Given the description of an element on the screen output the (x, y) to click on. 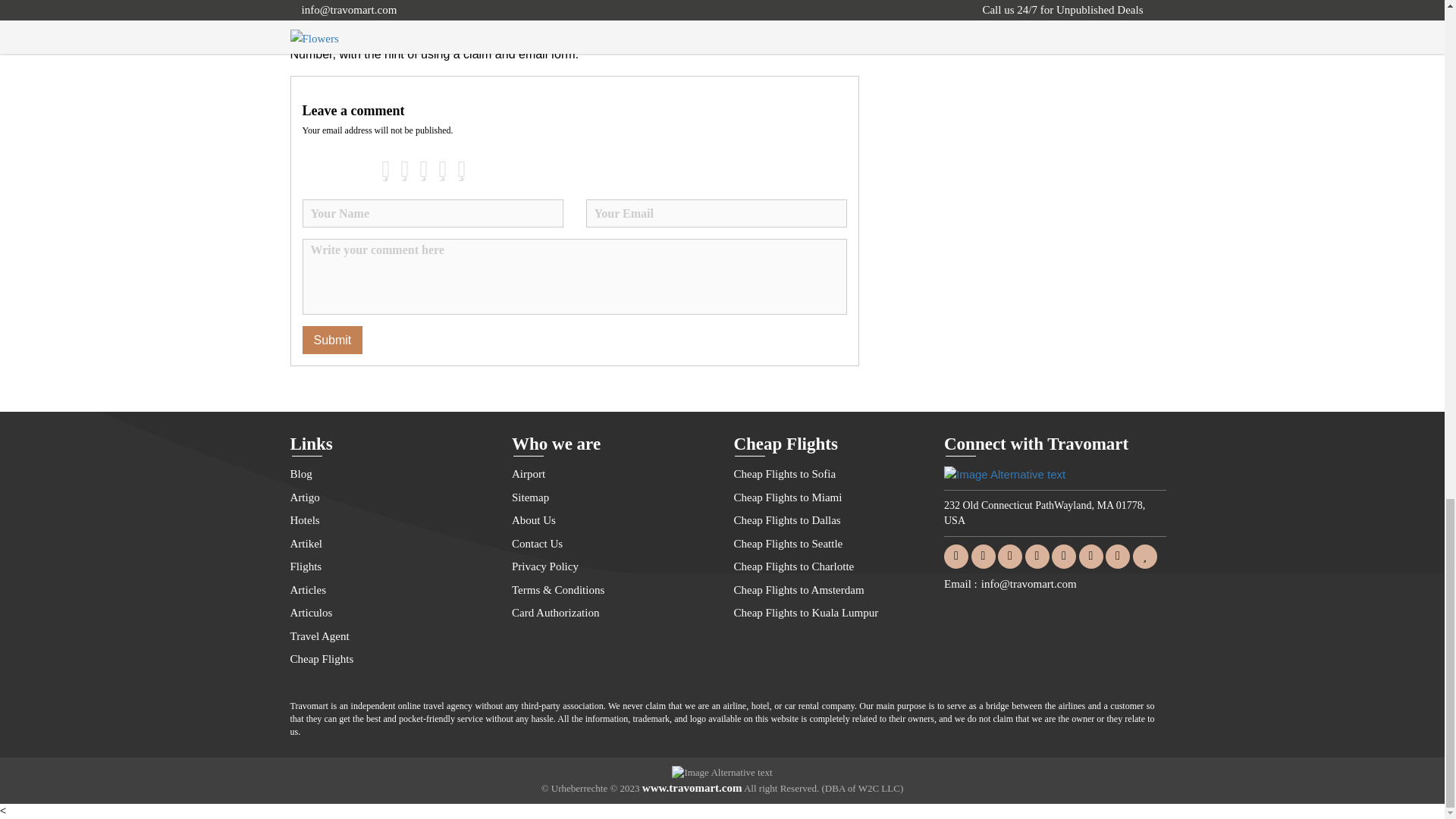
Invalid email address (715, 213)
Contact Us (611, 544)
Hotels (388, 520)
Facebook (955, 555)
Pinterest (1117, 555)
Cheap Flights to Charlotte (832, 567)
Travel Agent (388, 637)
Instagram (1063, 555)
Flights (388, 567)
Linkedin (1037, 555)
